Given the description of an element on the screen output the (x, y) to click on. 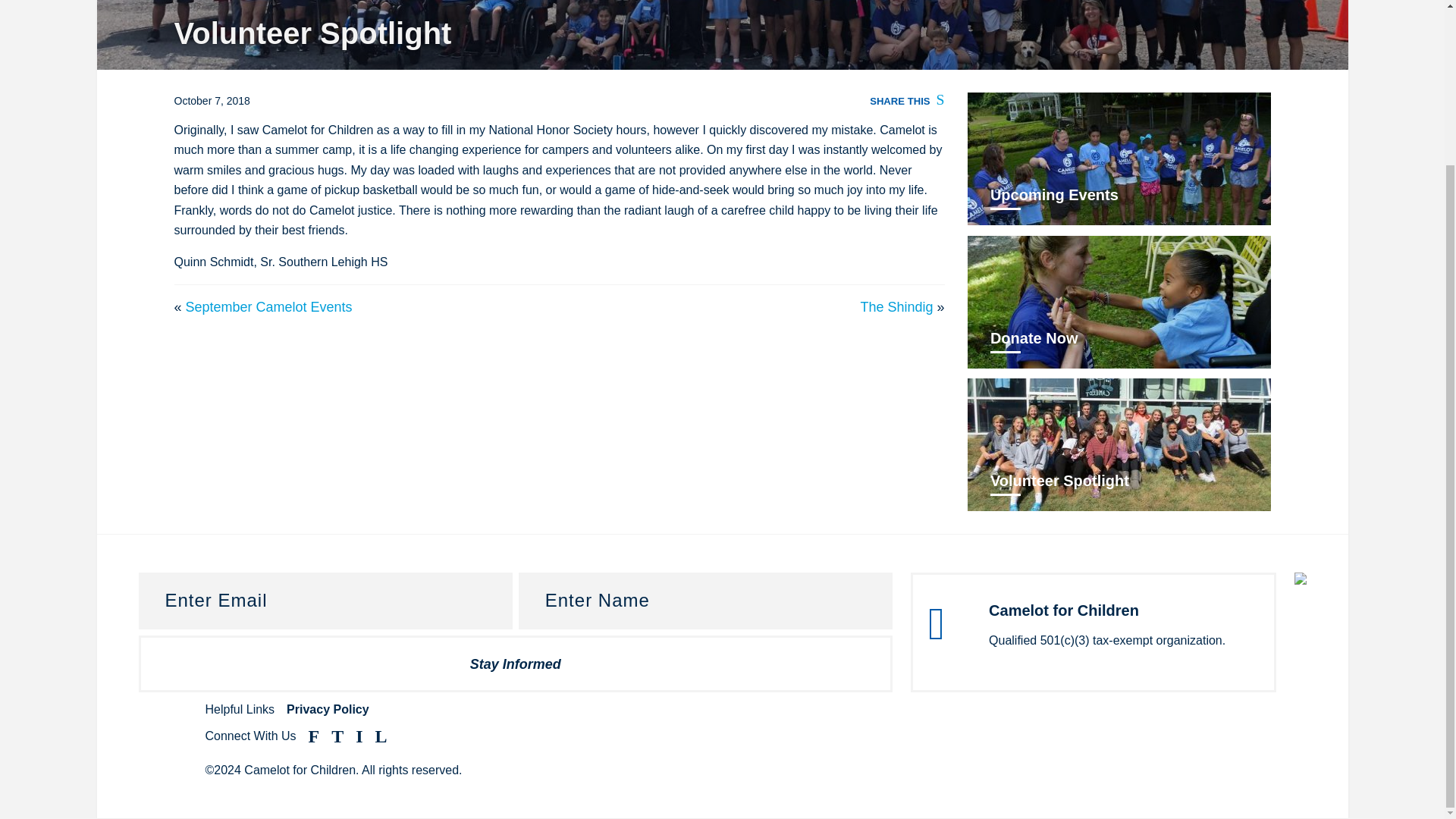
SHARE THIS (906, 99)
Privacy Policy (327, 708)
Donate Now (1119, 301)
Stay Informed (515, 663)
Volunteer Spotlight (1119, 444)
Upcoming Events (1119, 158)
September Camelot Events (269, 306)
The Shindig (896, 306)
